Given the description of an element on the screen output the (x, y) to click on. 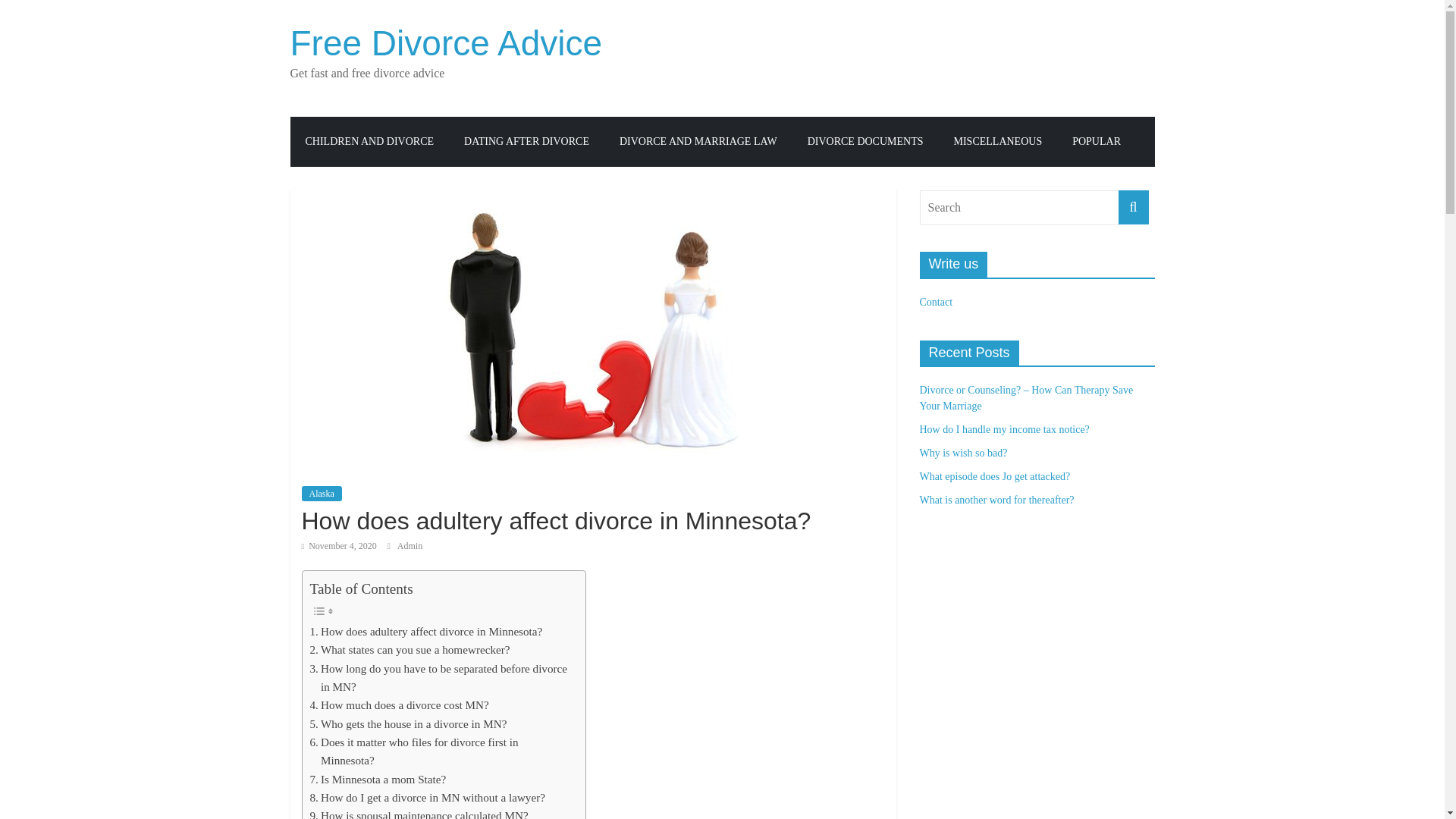
POPULAR (1096, 142)
How long do you have to be separated before divorce in MN? (438, 678)
Who gets the house in a divorce in MN? (407, 723)
What states can you sue a homewrecker? (408, 649)
How is spousal maintenance calculated MN? (417, 812)
Admin (409, 545)
How do I get a divorce in MN without a lawyer? (426, 797)
Alaska (321, 493)
How much does a divorce cost MN? (397, 705)
How much does a divorce cost MN? (397, 705)
